Given the description of an element on the screen output the (x, y) to click on. 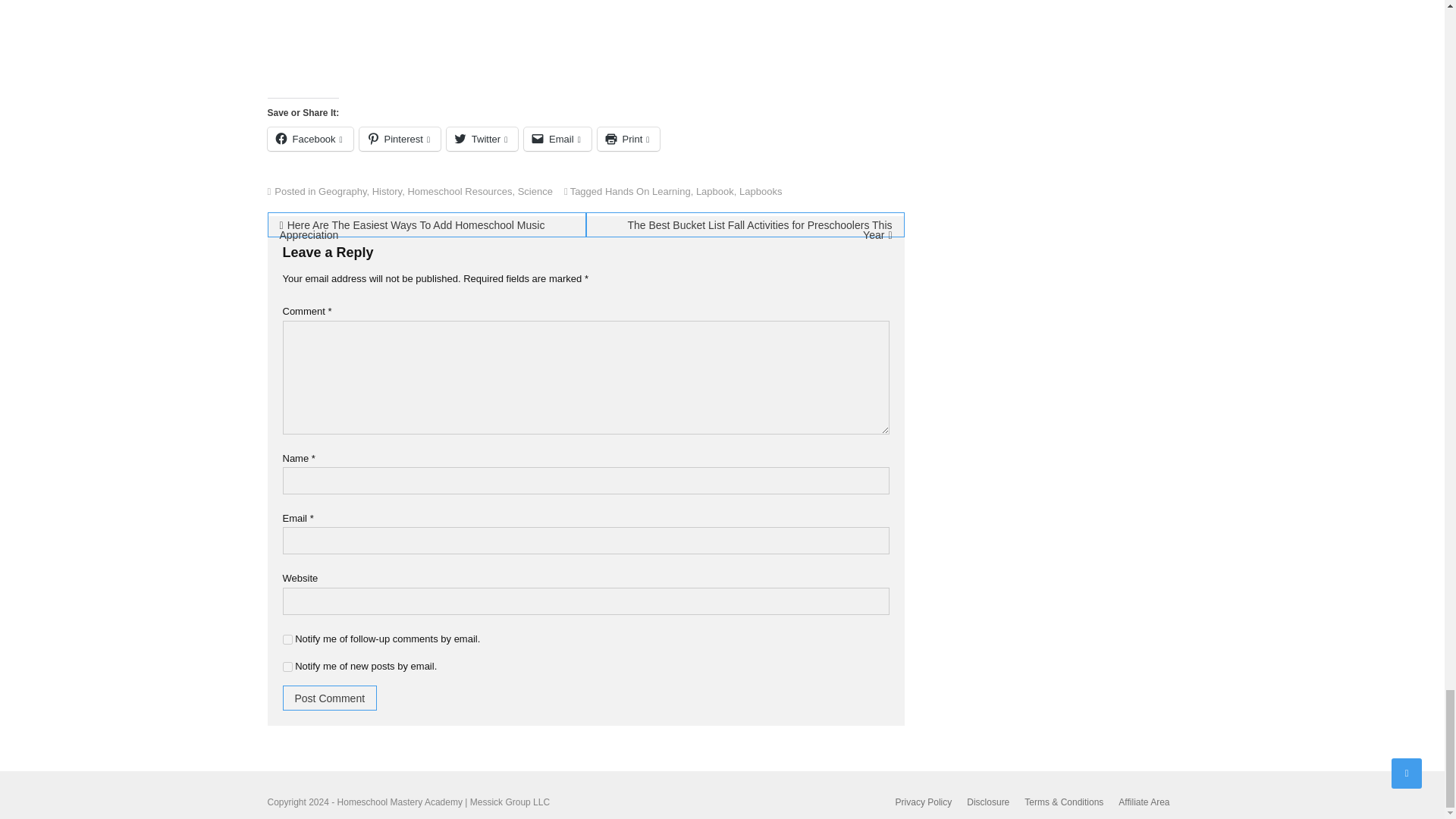
subscribe (287, 639)
Post Comment (329, 697)
Click to share on Twitter (482, 138)
subscribe (287, 666)
Click to email a link to a friend (557, 138)
Click to share on Facebook (309, 138)
Click to share on Pinterest (400, 138)
Click to print (628, 138)
